Given the description of an element on the screen output the (x, y) to click on. 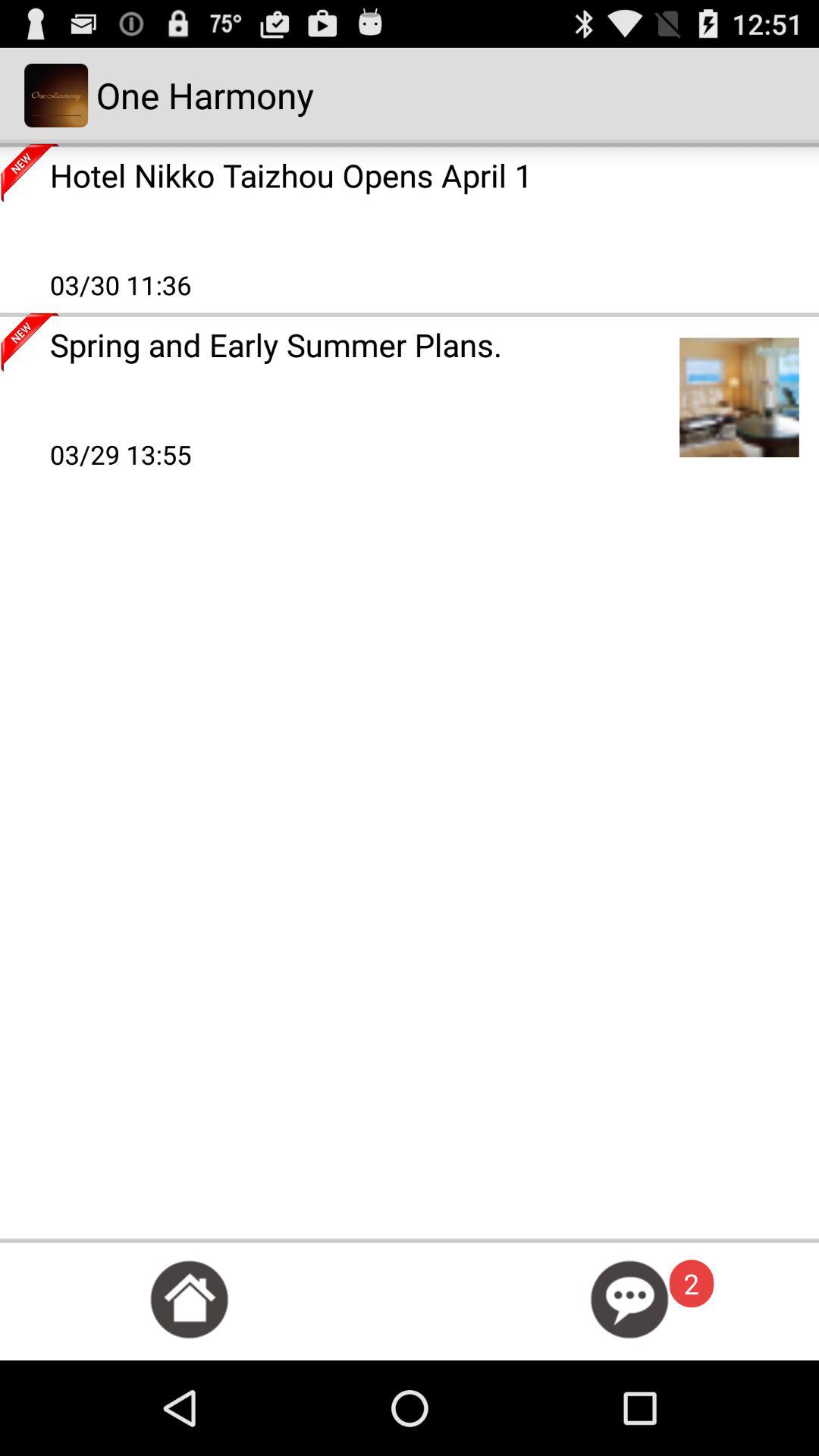
go home (189, 1299)
